Given the description of an element on the screen output the (x, y) to click on. 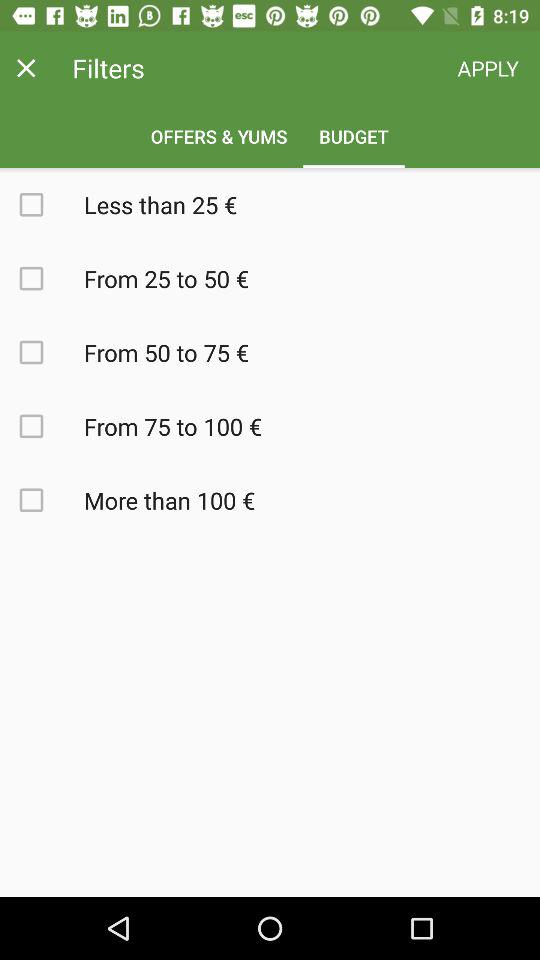
check this filter (41, 500)
